Given the description of an element on the screen output the (x, y) to click on. 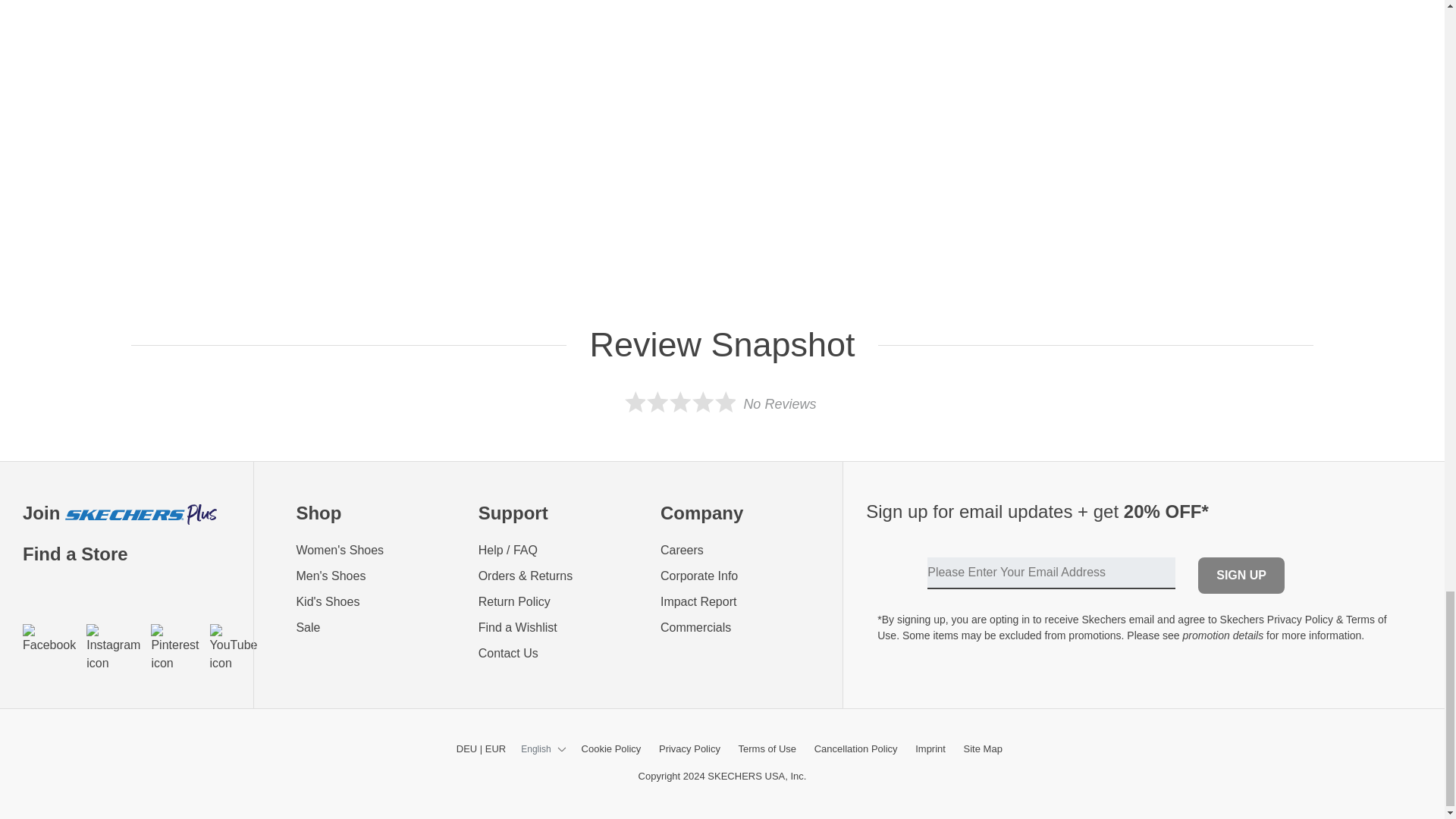
Follow SKECHERS on Pinterest (174, 648)
Follow Skechers on Facebook (49, 639)
Follow SKECHERS on Instagram (112, 648)
Go to Wishlist (558, 628)
Follow SKECHERS on YouTube (233, 648)
